Given the description of an element on the screen output the (x, y) to click on. 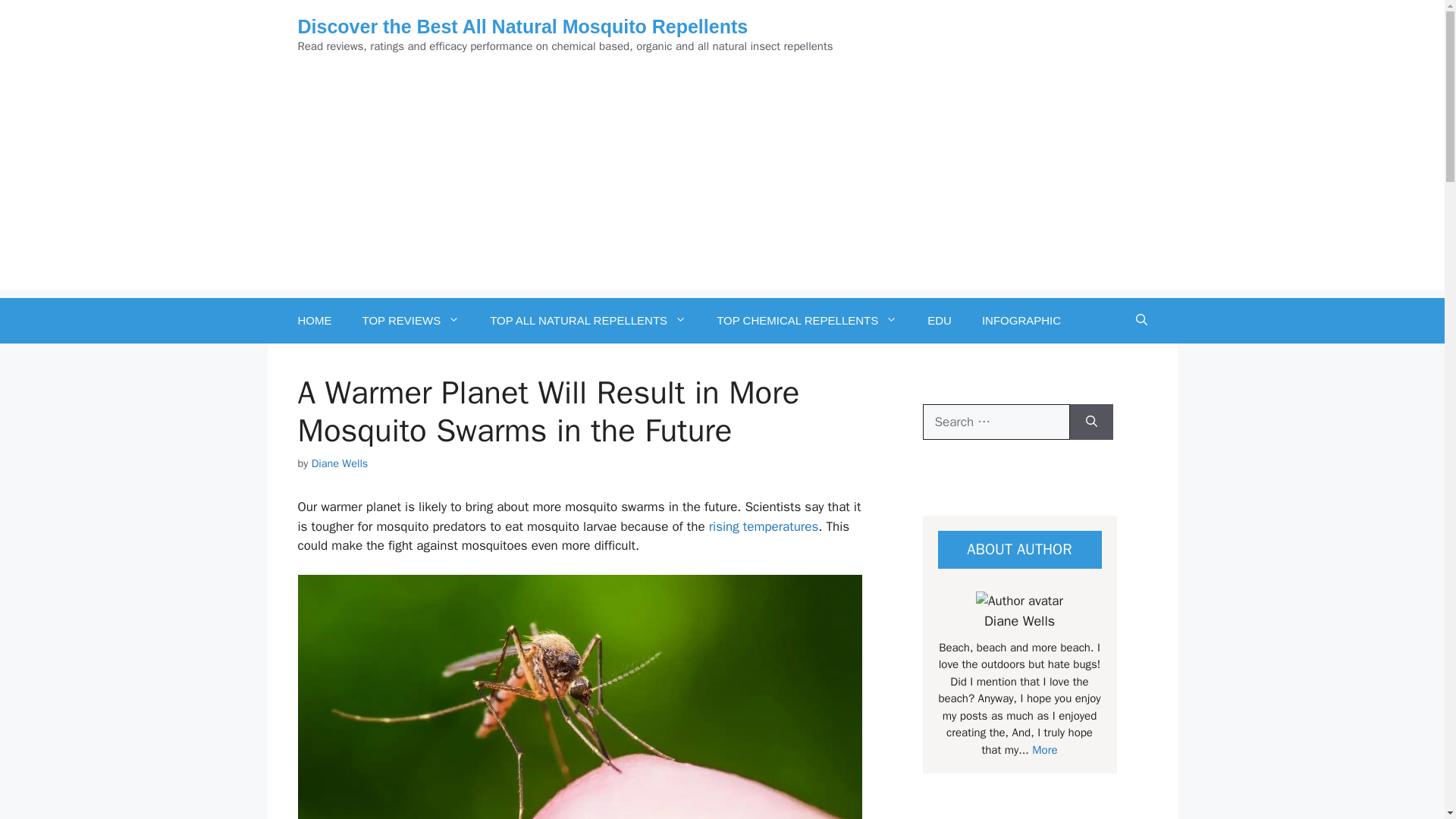
HOME (314, 320)
More (1043, 749)
Search for: (994, 421)
TOP REVIEWS (411, 320)
Discover the Best All Natural Mosquito Repellents (522, 25)
View all posts by Diane Wells (339, 463)
INFOGRAPHIC (1020, 320)
rising temperatures (763, 526)
TOP ALL NATURAL REPELLENTS (587, 320)
